Given the description of an element on the screen output the (x, y) to click on. 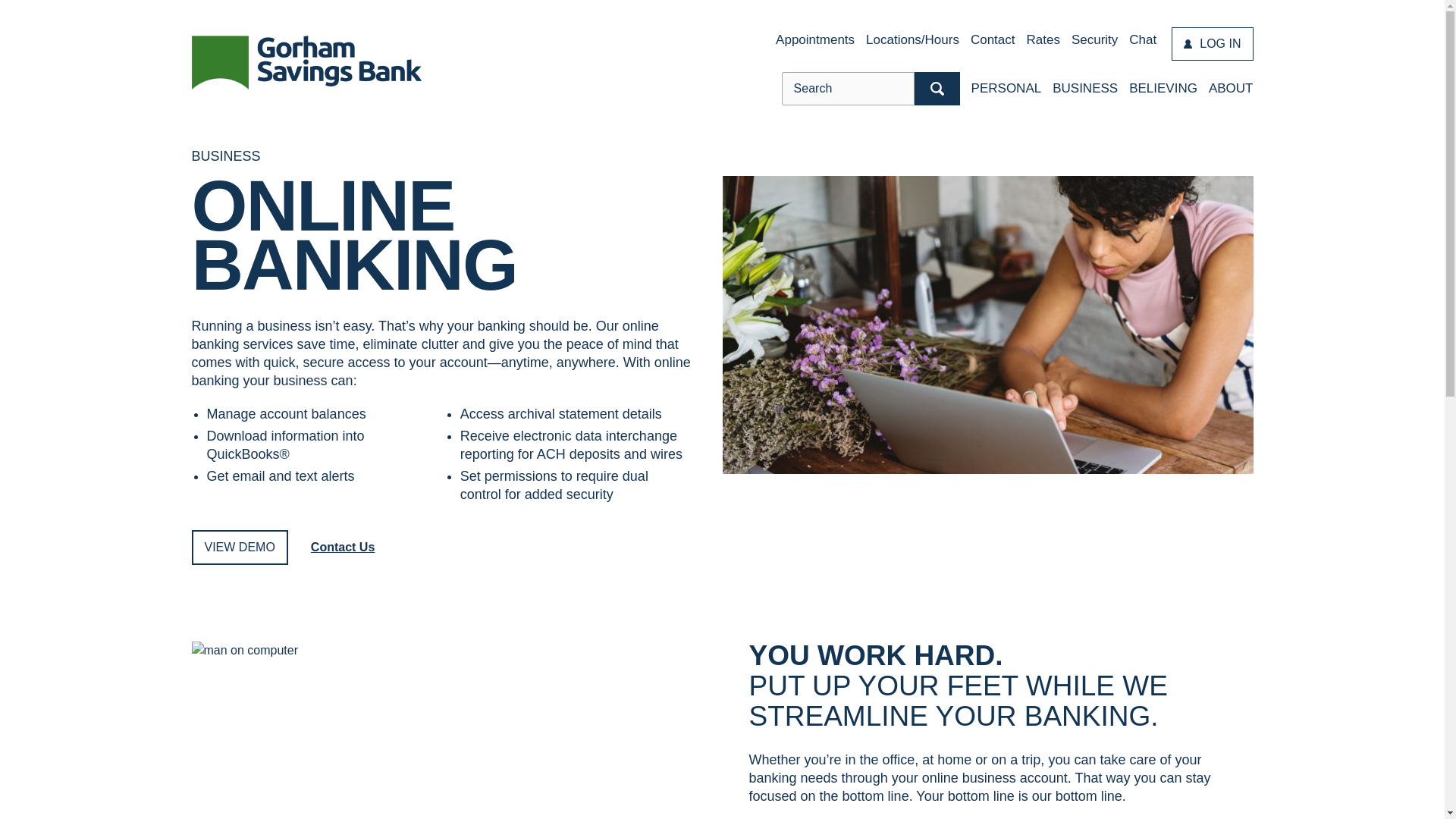
PERSONAL (1006, 88)
Security (1094, 39)
Chat (1142, 39)
Appointments (815, 39)
Rates (1042, 39)
Search (936, 88)
Contact (992, 39)
LOG IN (1212, 43)
